Given the description of an element on the screen output the (x, y) to click on. 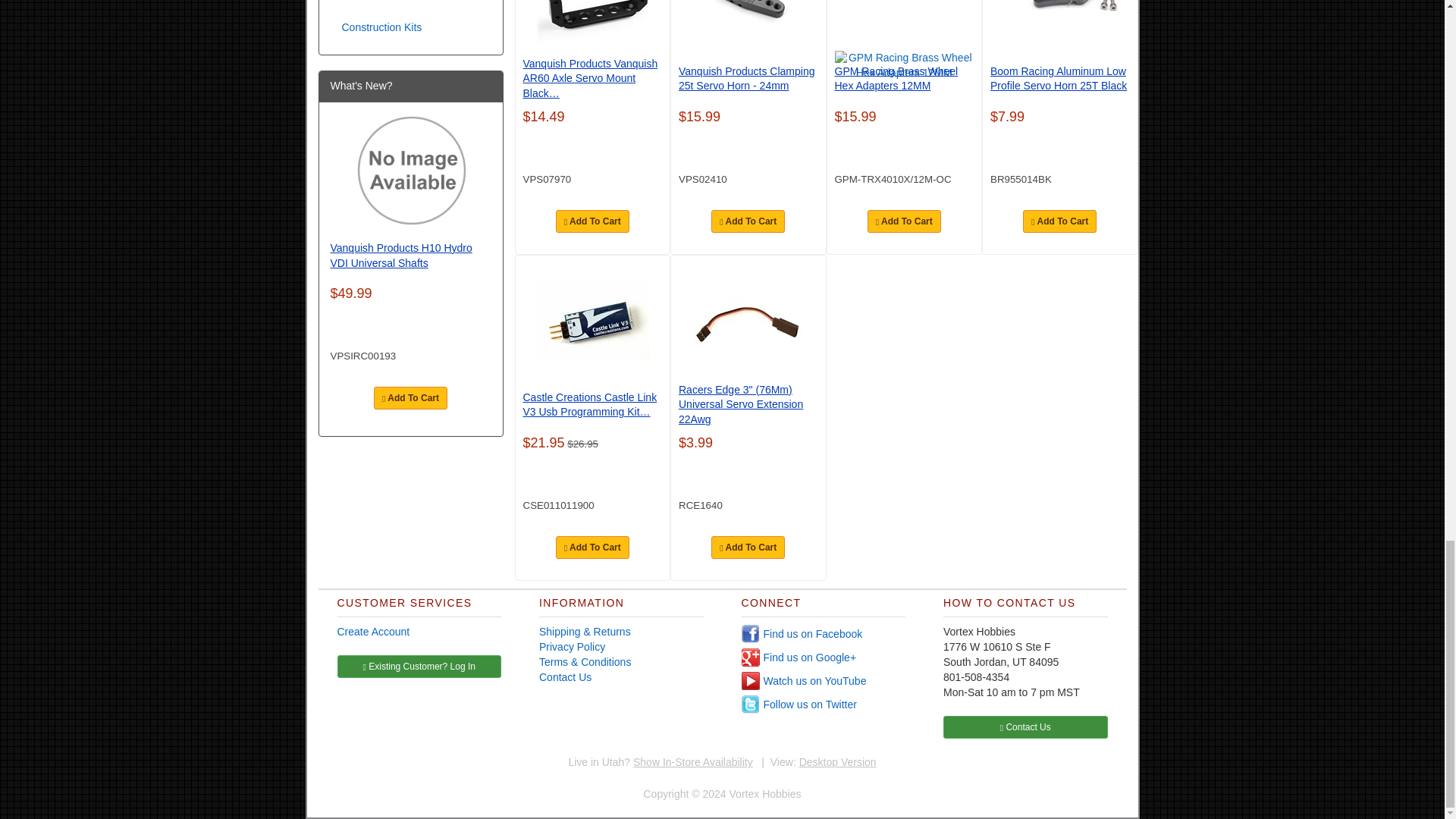
Vanquish Products Clamping 25t Servo Horn - 24mm (749, 25)
Boom Racing Aluminum Low Profile Servo Horn 25T Black (1061, 25)
GPM Racing Brass Wheel Hex Adapters 12MM (904, 65)
